Given the description of an element on the screen output the (x, y) to click on. 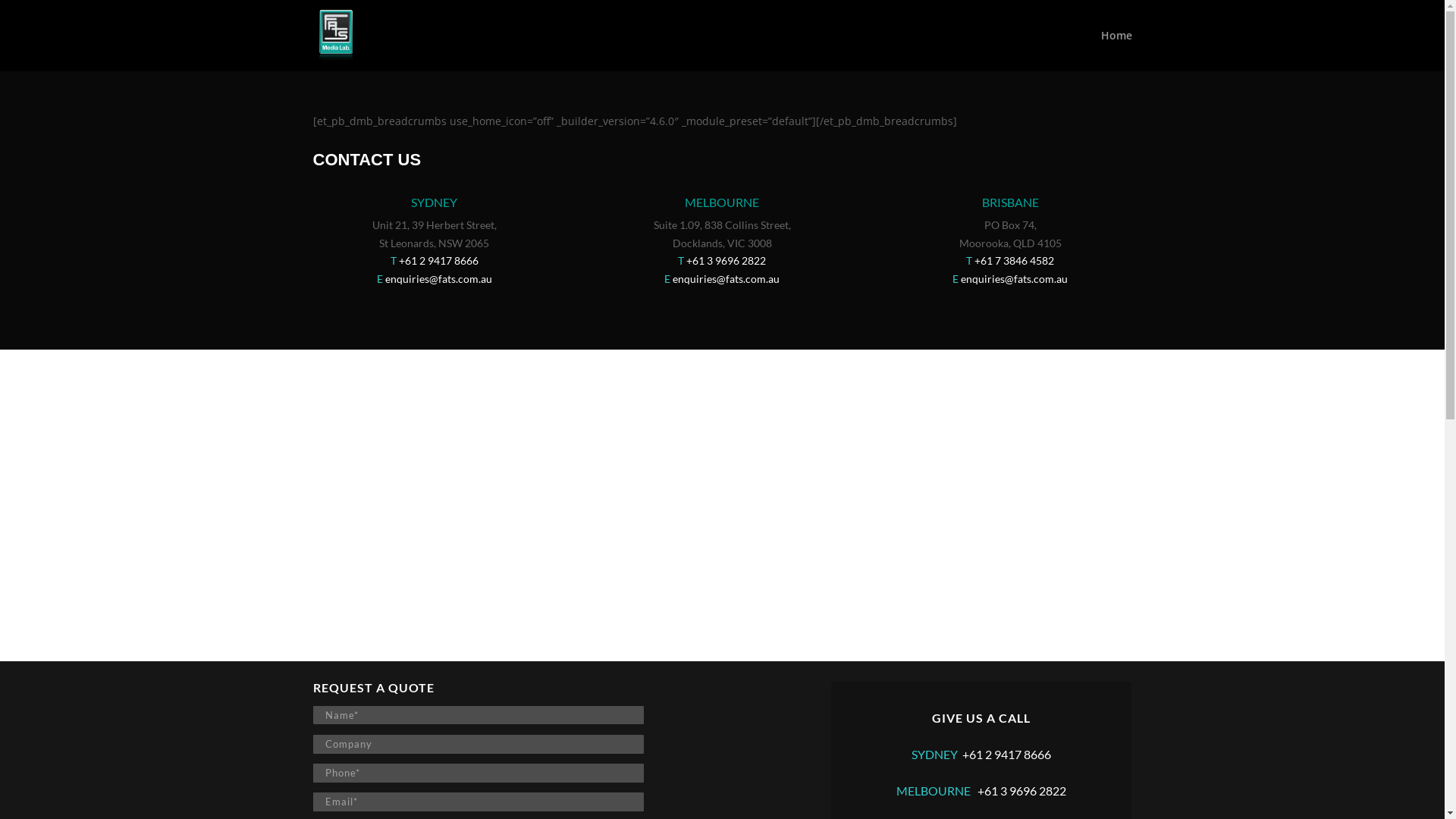
+61 2 9417 8666 Element type: text (438, 260)
enquiries@fats.com.au Element type: text (1013, 278)
+61 7 3846 4582 Element type: text (1014, 260)
+61 3 9696 2822 Element type: text (1021, 790)
+61 2 9417 8666 Element type: text (1006, 753)
enquiries@fats.com.au Element type: text (438, 278)
+61 3 9696 2822 Element type: text (725, 260)
Home Element type: text (1116, 50)
enquiries@fats.com.au Element type: text (725, 278)
